Given the description of an element on the screen output the (x, y) to click on. 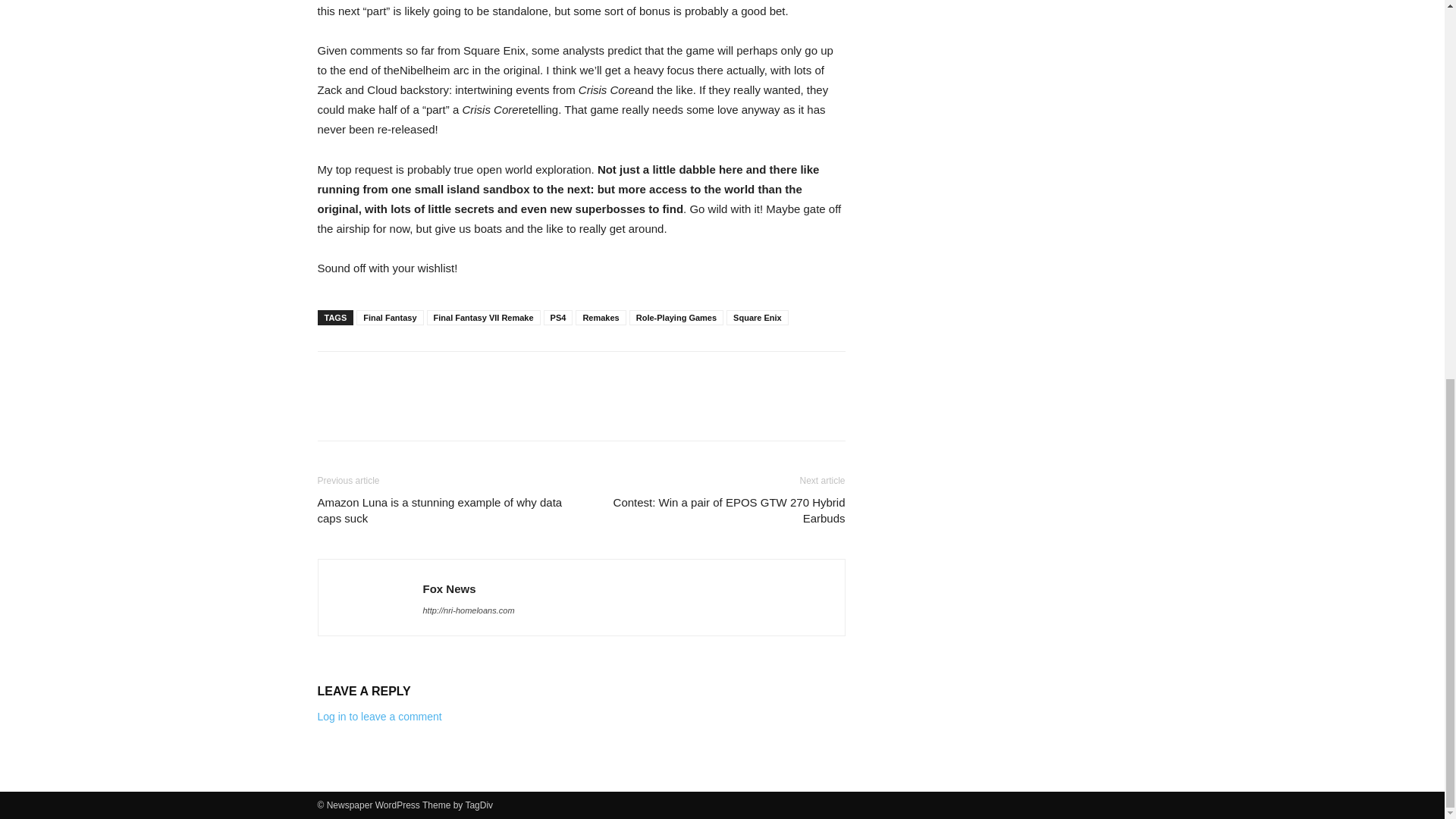
Amazon Luna is a stunning example of why data caps suck (439, 510)
Final Fantasy (389, 317)
Square Enix (757, 317)
PS4 (558, 317)
bottomFacebookLike (430, 375)
Contest: Win a pair of EPOS GTW 270 Hybrid Earbuds (721, 510)
Final Fantasy VII Remake (483, 317)
Role-Playing Games (675, 317)
Remakes (600, 317)
